Given the description of an element on the screen output the (x, y) to click on. 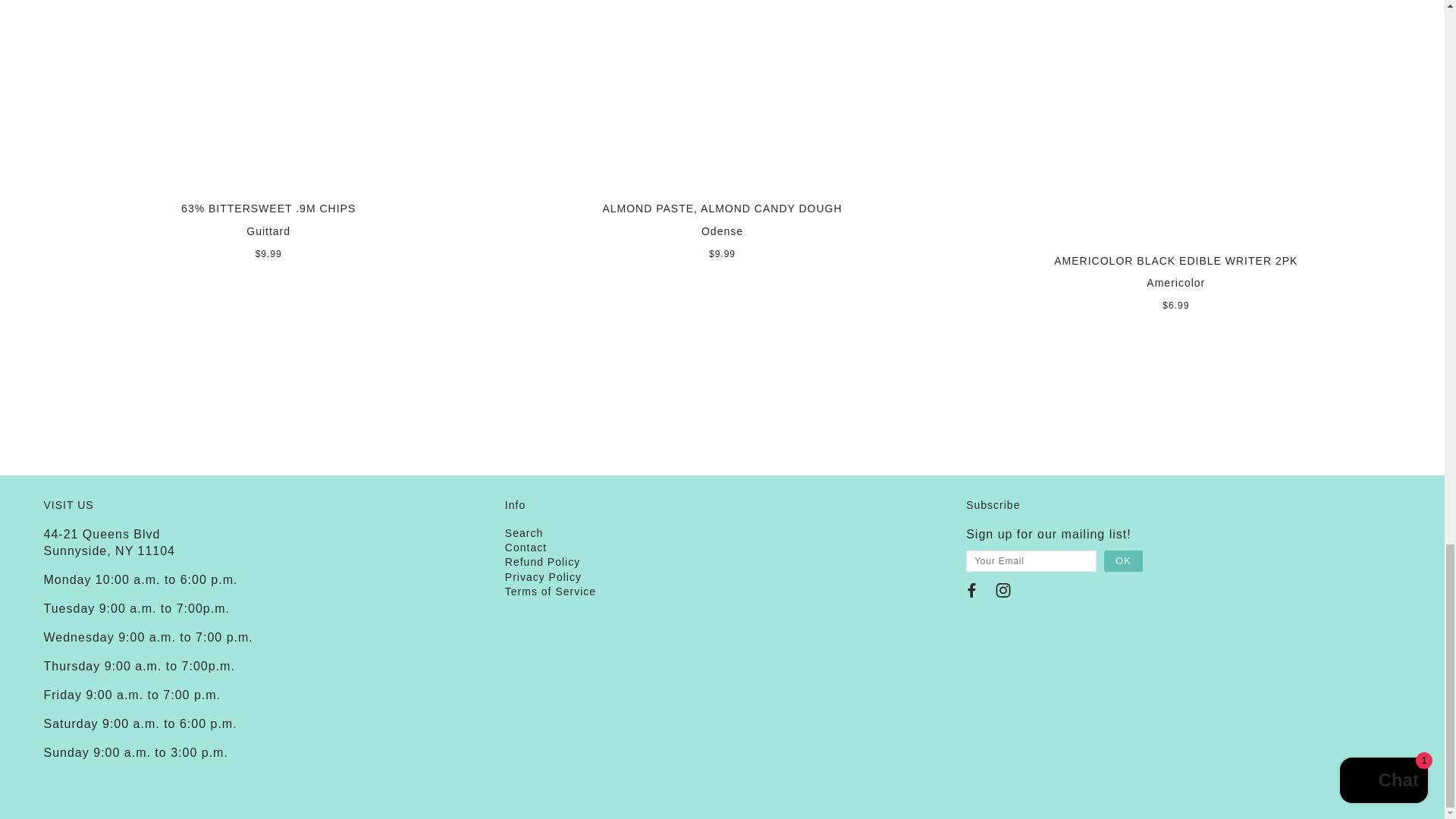
Search (524, 532)
Privacy Policy (542, 576)
OK (1122, 560)
Refund Policy (542, 562)
Contact (526, 547)
Terms of Service (550, 591)
